Given the description of an element on the screen output the (x, y) to click on. 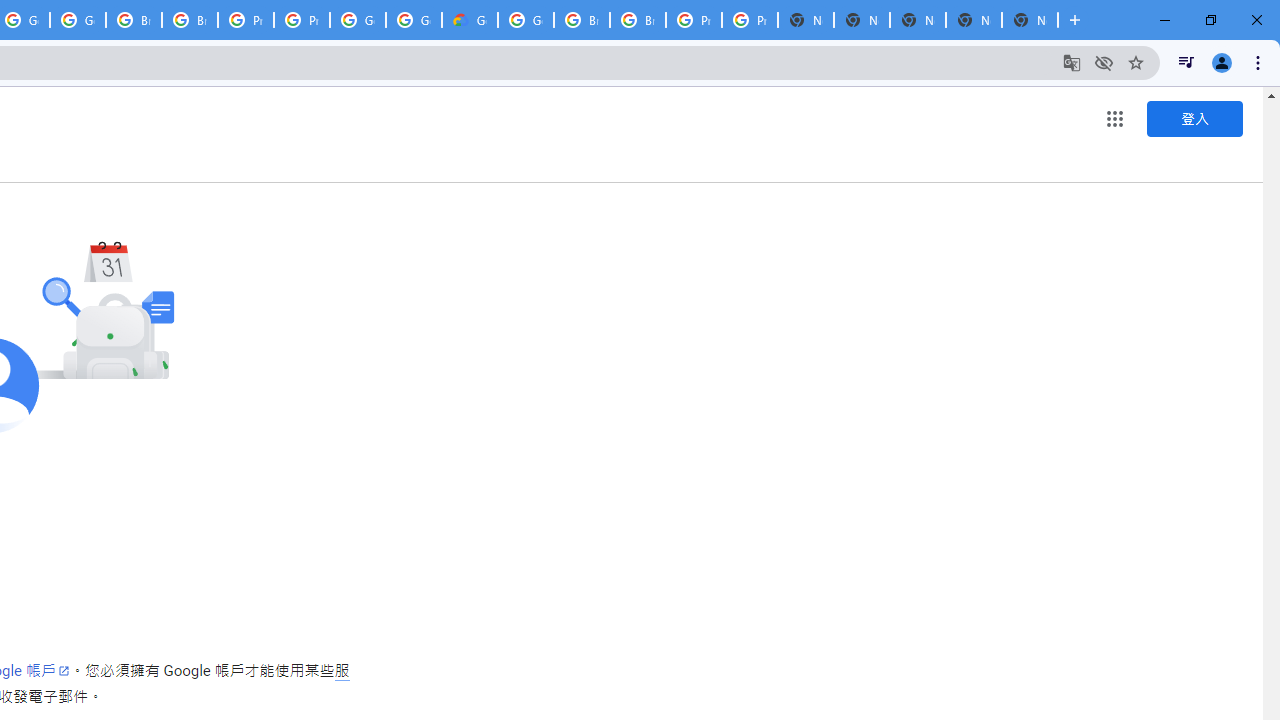
New Tab (1030, 20)
Translate this page (1071, 62)
Google Cloud Platform (358, 20)
